Given the description of an element on the screen output the (x, y) to click on. 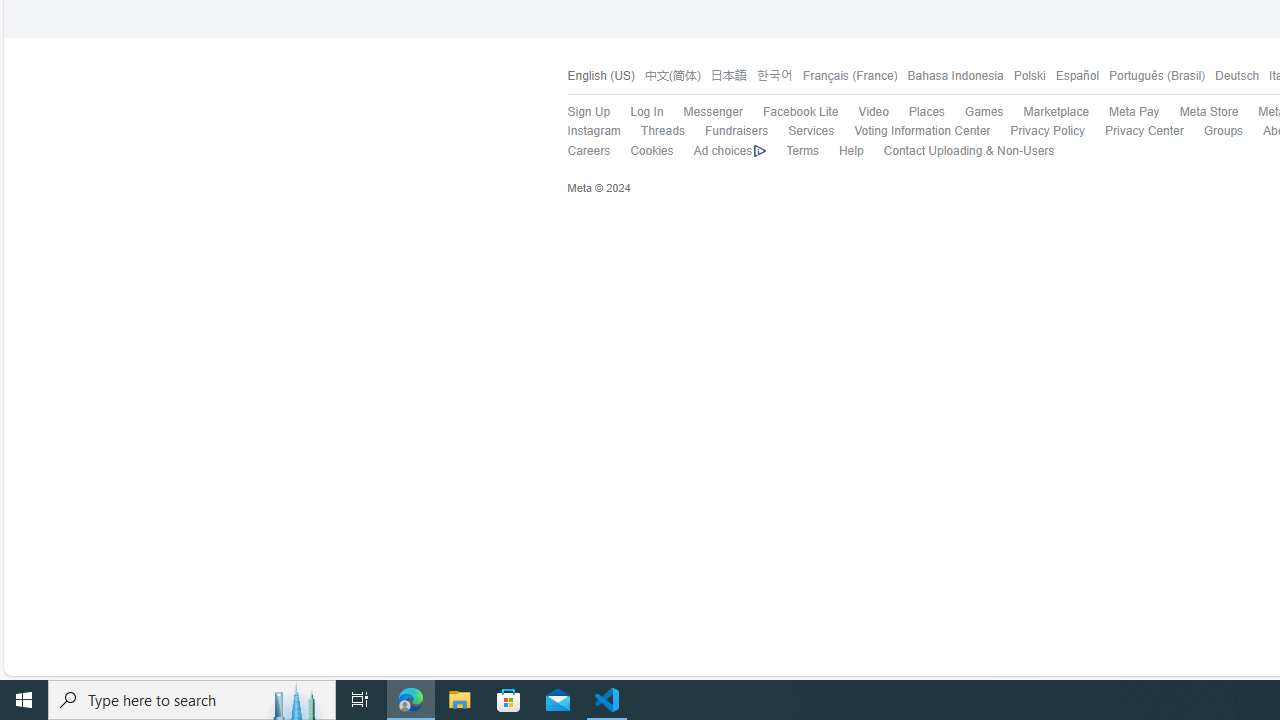
Voting Information Center (912, 131)
Cookies (651, 150)
Meta Store (1208, 112)
Cookies (642, 151)
Ad choices (719, 151)
Marketplace (1046, 112)
Terms (792, 151)
Terms (802, 150)
Facebook Lite (790, 112)
Places (916, 112)
Places (925, 112)
Log In (637, 112)
